Given the description of an element on the screen output the (x, y) to click on. 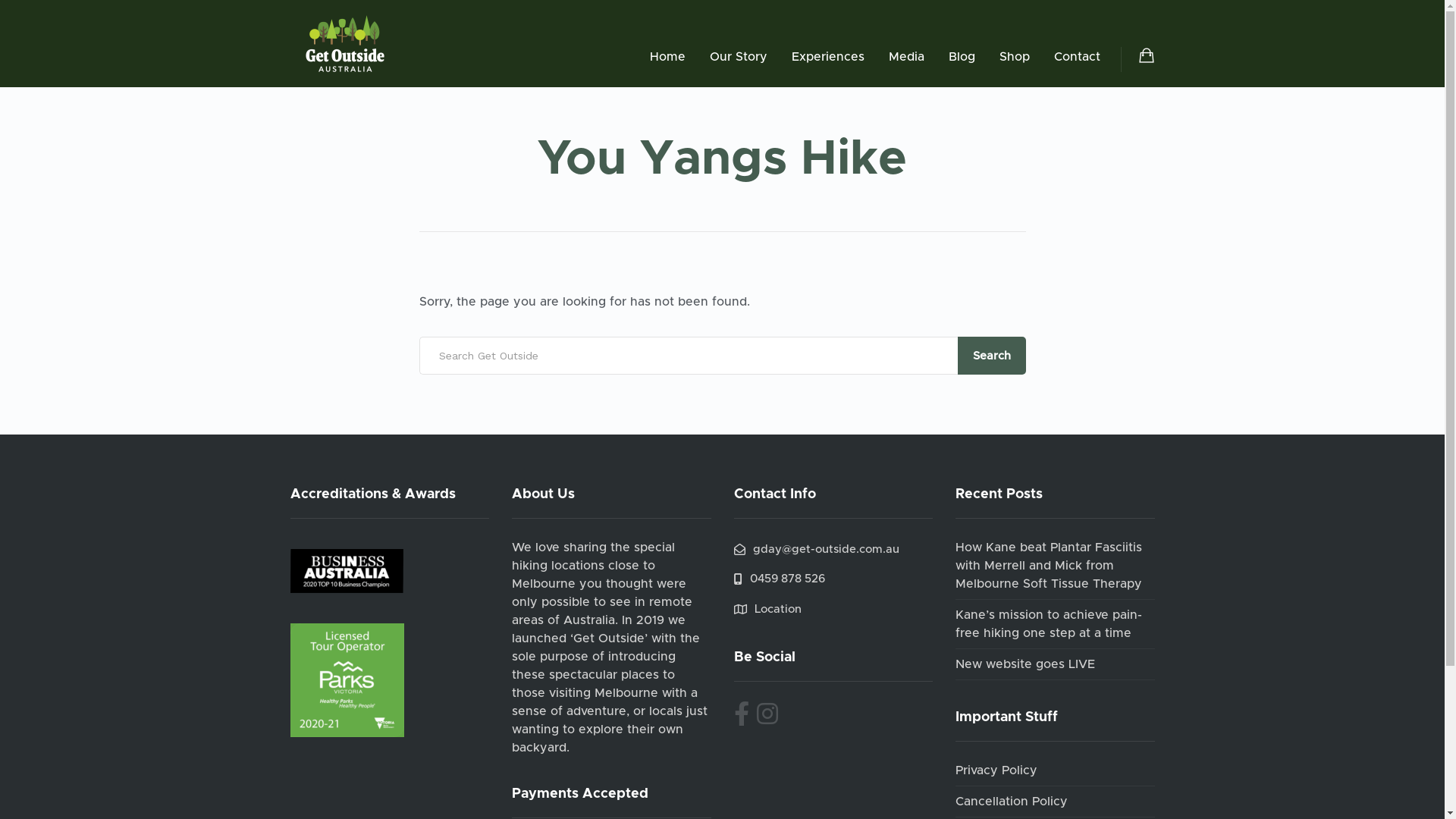
0459 878 526 Element type: text (779, 578)
Shop Element type: text (1014, 56)
Contact Element type: text (1077, 56)
Privacy Policy Element type: text (996, 770)
Search Element type: text (991, 355)
Experiences Element type: text (827, 56)
gday@get-outside.com.au Element type: text (816, 549)
Cancellation Policy Element type: text (1011, 801)
Home Element type: text (666, 56)
Our Story Element type: text (738, 56)
Media Element type: text (906, 56)
New website goes LIVE Element type: text (1025, 664)
Blog Element type: text (960, 56)
Location Element type: text (767, 609)
